Given the description of an element on the screen output the (x, y) to click on. 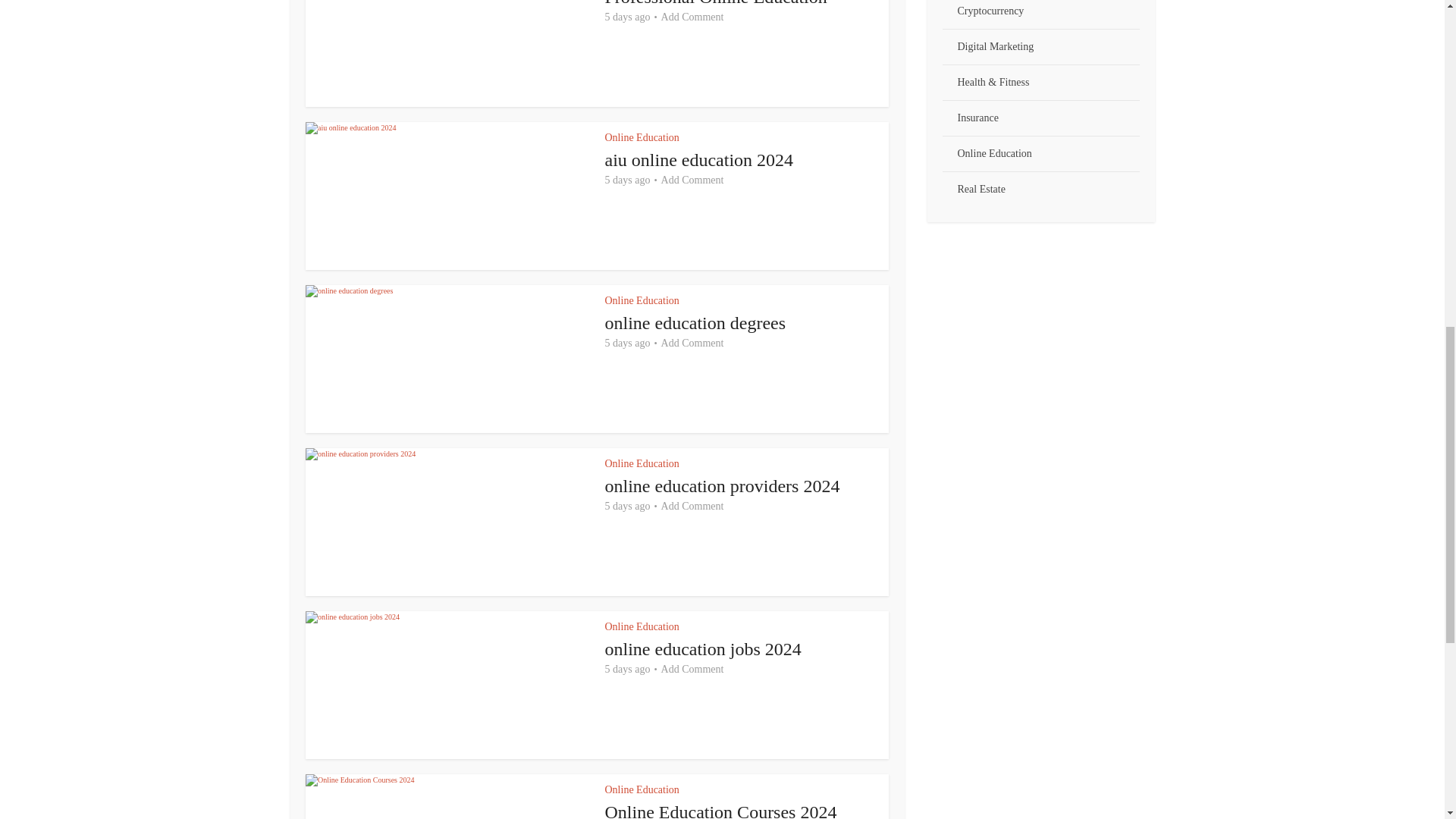
Online Education (642, 626)
Professional Online Education (716, 3)
online education providers 2024 (722, 485)
Add Comment (692, 17)
aiu online education 2024 (699, 159)
online education jobs 2024 (703, 649)
Professional Online Education (716, 3)
online education degrees (695, 322)
Add Comment (692, 180)
online education providers 2024 (722, 485)
Add Comment (692, 506)
aiu online education 2024 (699, 159)
Online Education (642, 300)
online education degrees (695, 322)
Online Education (642, 137)
